Given the description of an element on the screen output the (x, y) to click on. 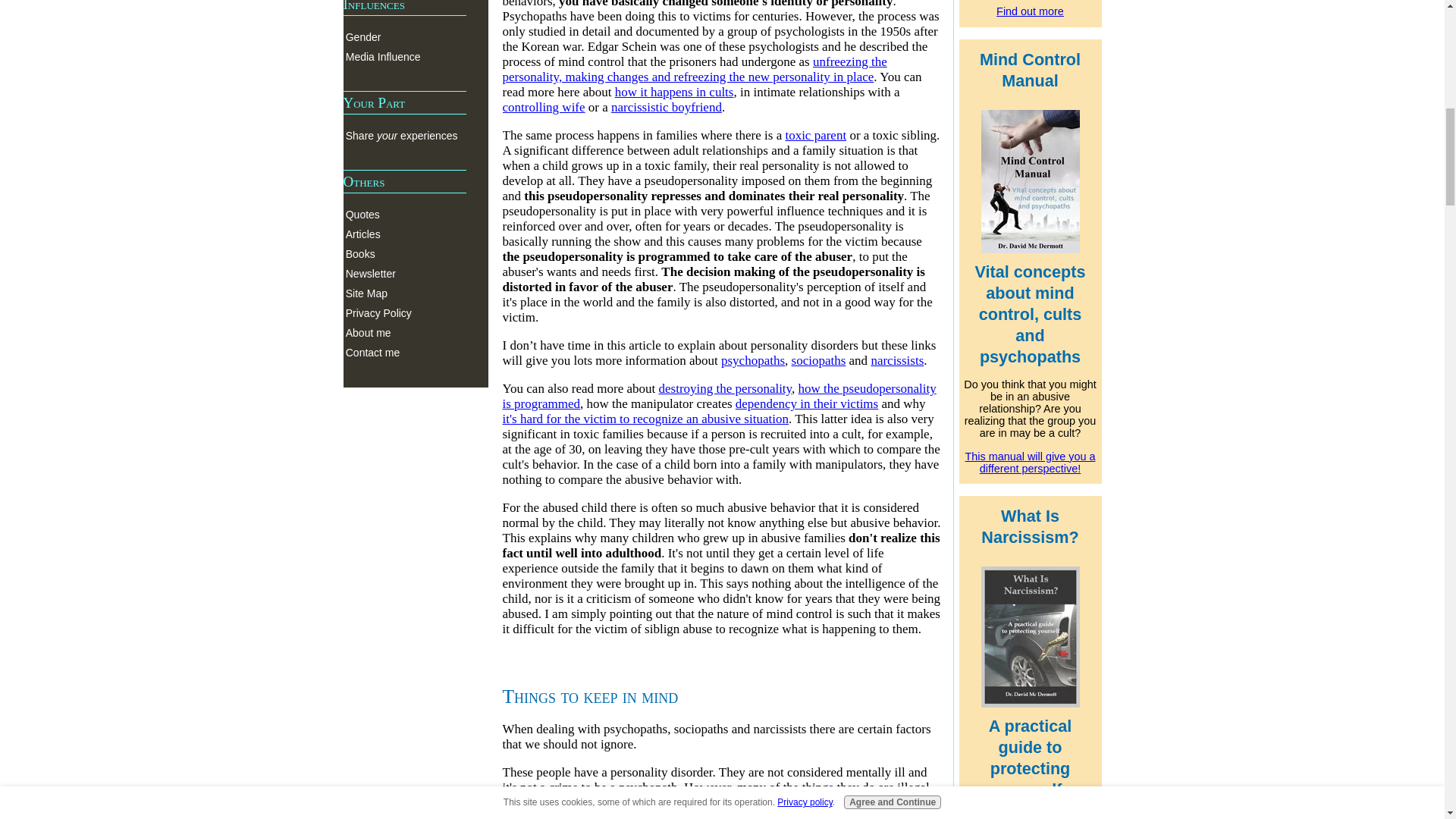
dependency in their victims (806, 403)
controlling wife (543, 106)
narcissists (896, 359)
toxic parent (814, 134)
how the pseudopersonality is programmed (719, 396)
narcissistic boyfriend (666, 106)
how it happens in cults (673, 92)
it's hard for the victim to recognize an abusive situation (644, 418)
psychopaths (752, 359)
destroying the personality (725, 388)
sociopaths (818, 359)
